Given the description of an element on the screen output the (x, y) to click on. 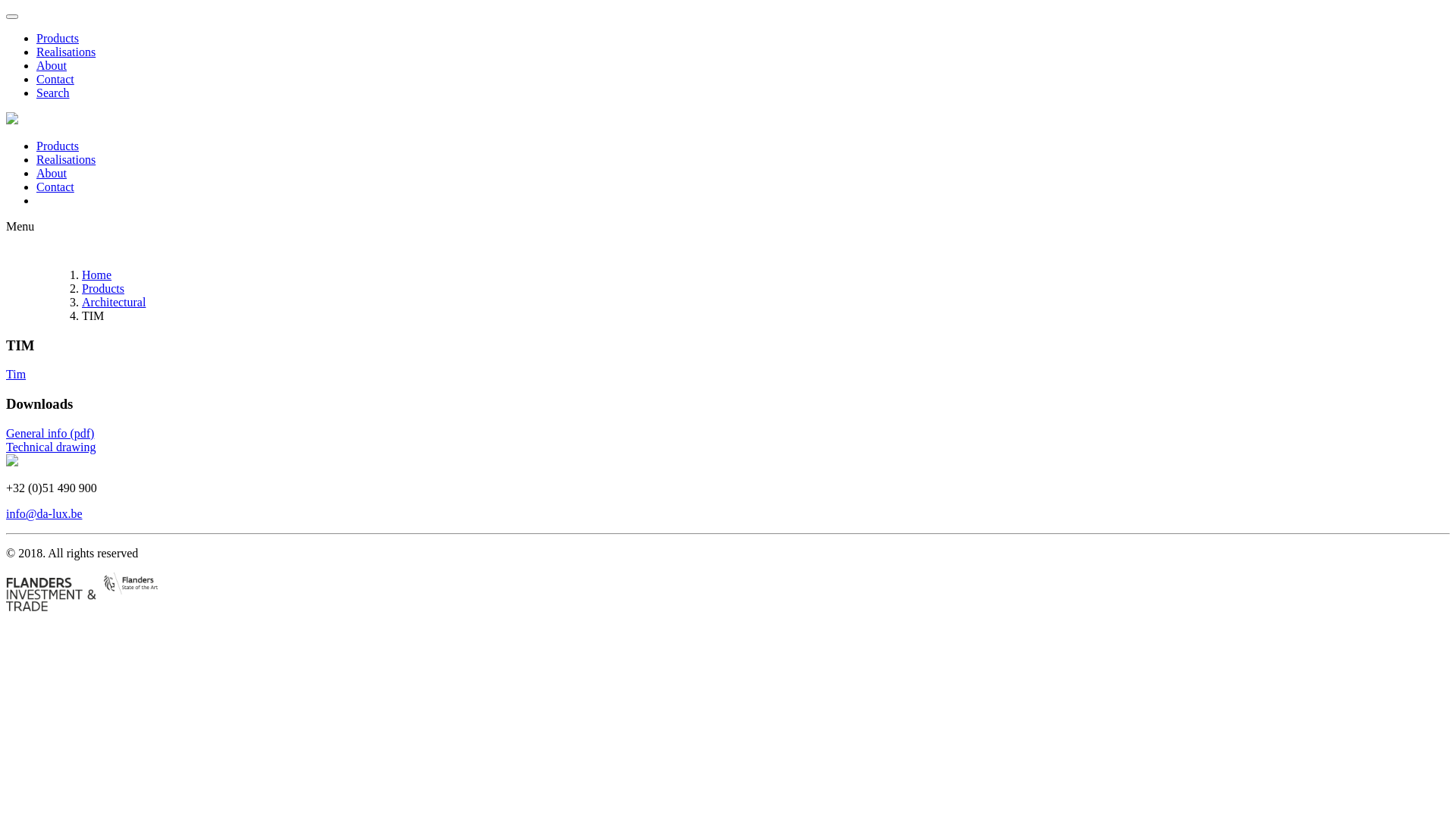
Contact Element type: text (55, 186)
info@da-lux.be Element type: text (43, 513)
Search Element type: text (52, 92)
Home Element type: text (96, 274)
Realisations Element type: text (65, 159)
Tim Element type: text (15, 373)
Architectural Element type: text (113, 301)
Contact Element type: text (55, 78)
General info (pdf) Element type: text (50, 432)
Technical drawing Element type: text (50, 446)
Menu Element type: text (20, 225)
About Element type: text (51, 172)
Products Element type: text (57, 37)
About Element type: text (51, 65)
Realisations Element type: text (65, 51)
Products Element type: text (102, 288)
Products Element type: text (57, 145)
